Given the description of an element on the screen output the (x, y) to click on. 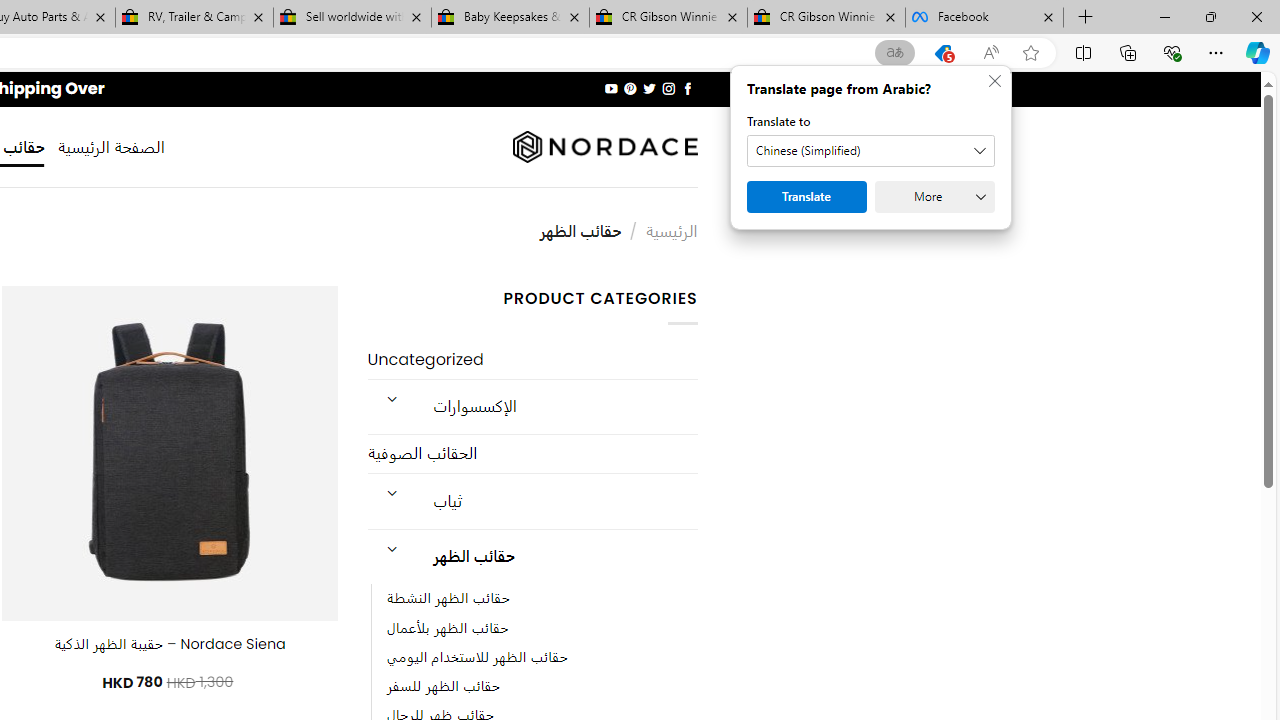
Translate to (870, 151)
Show translate options (895, 53)
